Given the description of an element on the screen output the (x, y) to click on. 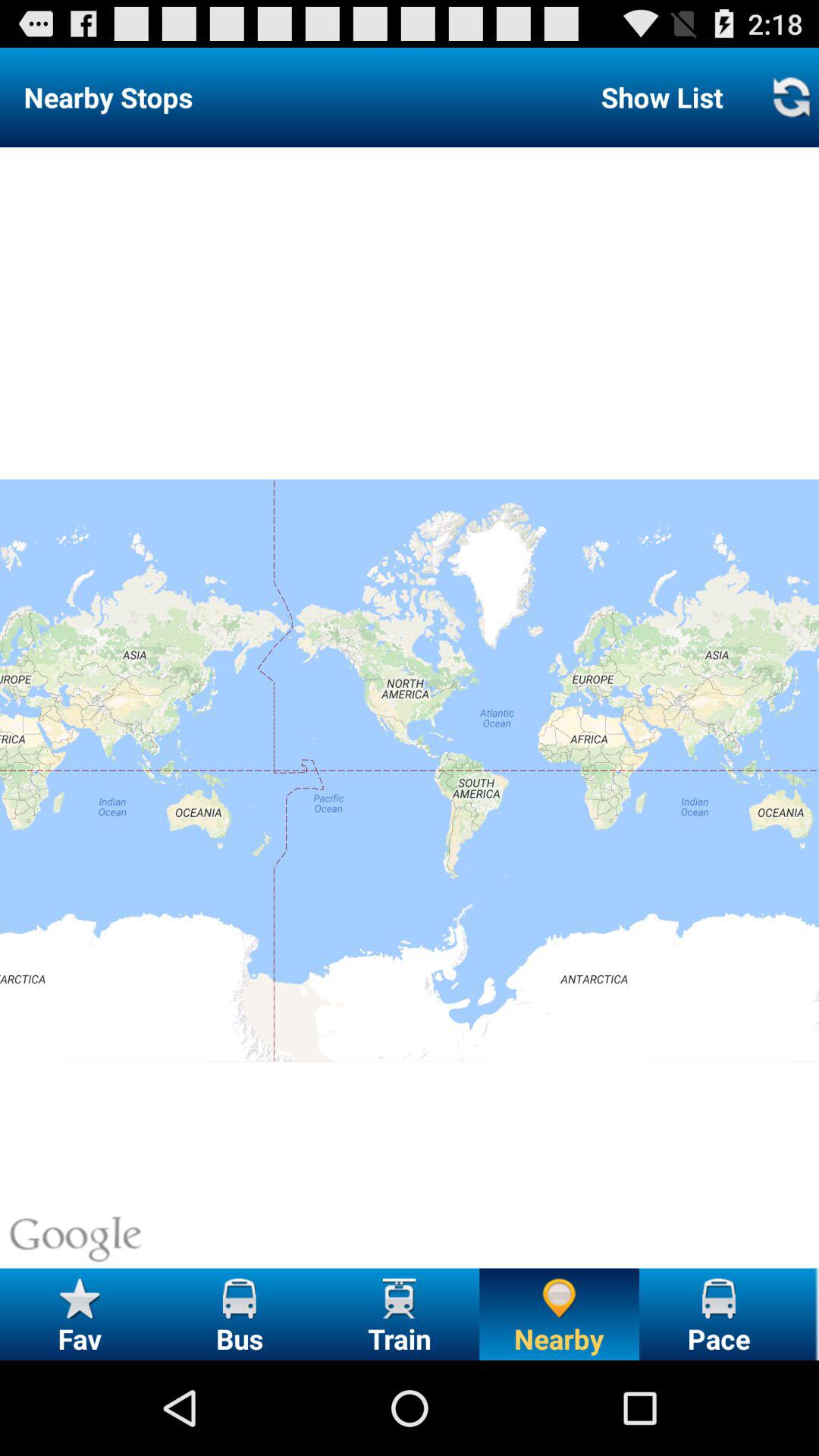
launch the button to the right of the show list (791, 97)
